Given the description of an element on the screen output the (x, y) to click on. 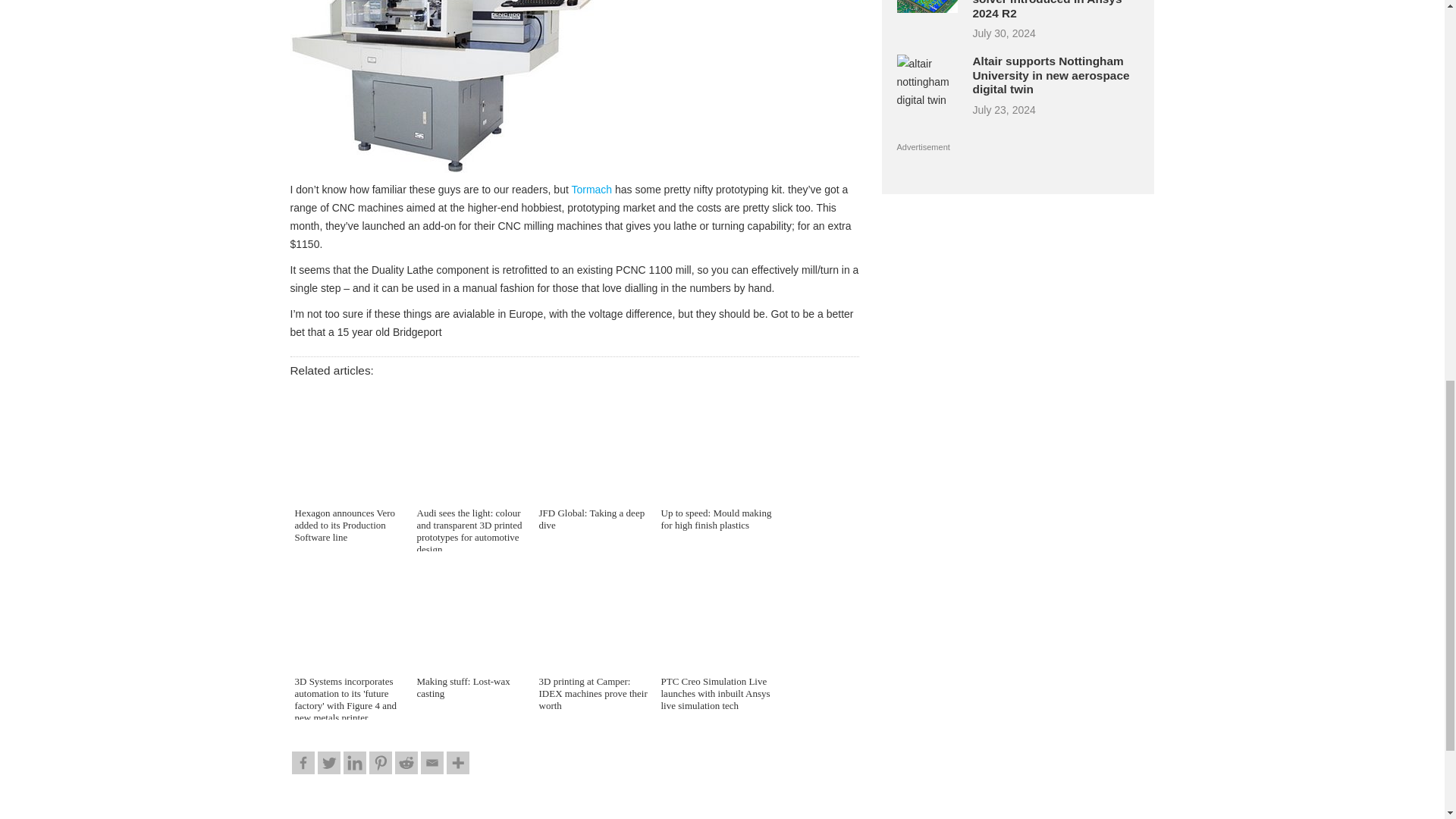
Facebook (302, 762)
Twitter (328, 762)
